Given the description of an element on the screen output the (x, y) to click on. 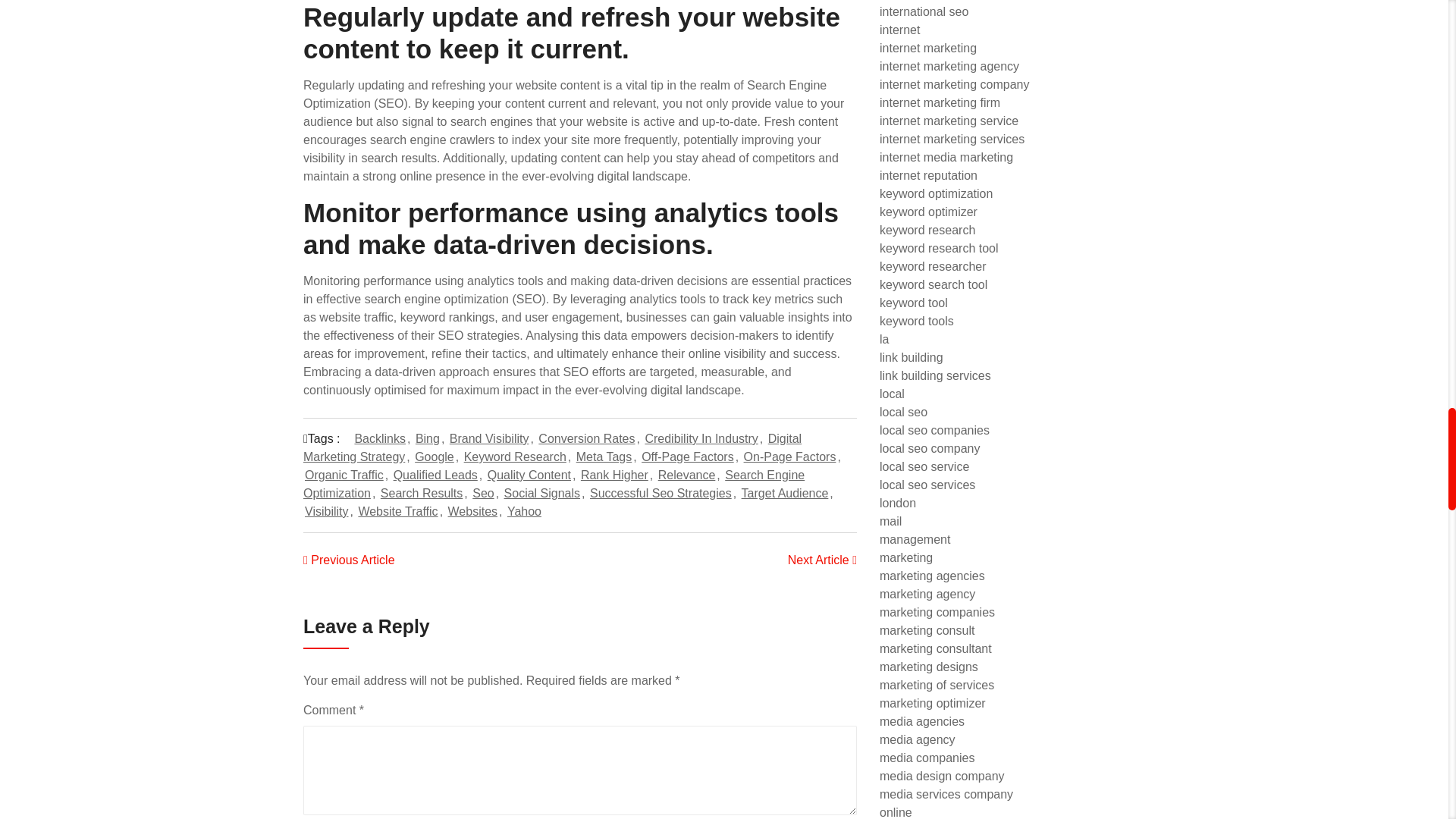
Brand Visibility (489, 438)
Bing (426, 438)
Social Signals (541, 492)
Search Engine Optimization (553, 483)
On-Page Factors (789, 456)
Rank Higher (613, 474)
Backlinks (379, 438)
Quality Content (528, 474)
Target Audience (784, 492)
Off-Page Factors (687, 456)
Digital Marketing Strategy (552, 447)
Organic Traffic (344, 474)
Seo (482, 492)
Successful Seo Strategies (660, 492)
Meta Tags (603, 456)
